Given the description of an element on the screen output the (x, y) to click on. 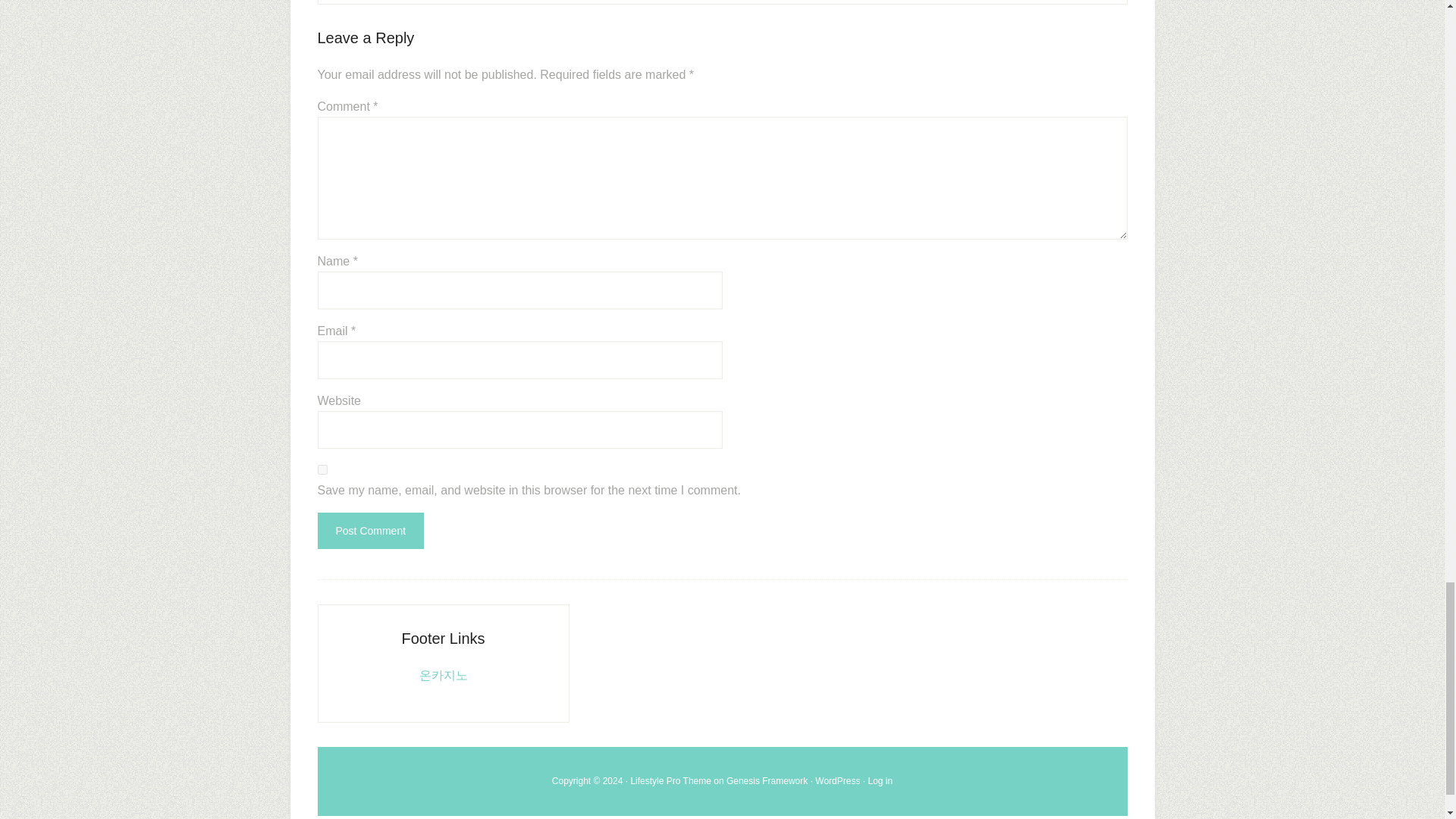
WordPress (837, 780)
Post Comment (370, 530)
Lifestyle Pro Theme (670, 780)
yes (321, 470)
Genesis Framework (767, 780)
Post Comment (370, 530)
Log in (879, 780)
